Given the description of an element on the screen output the (x, y) to click on. 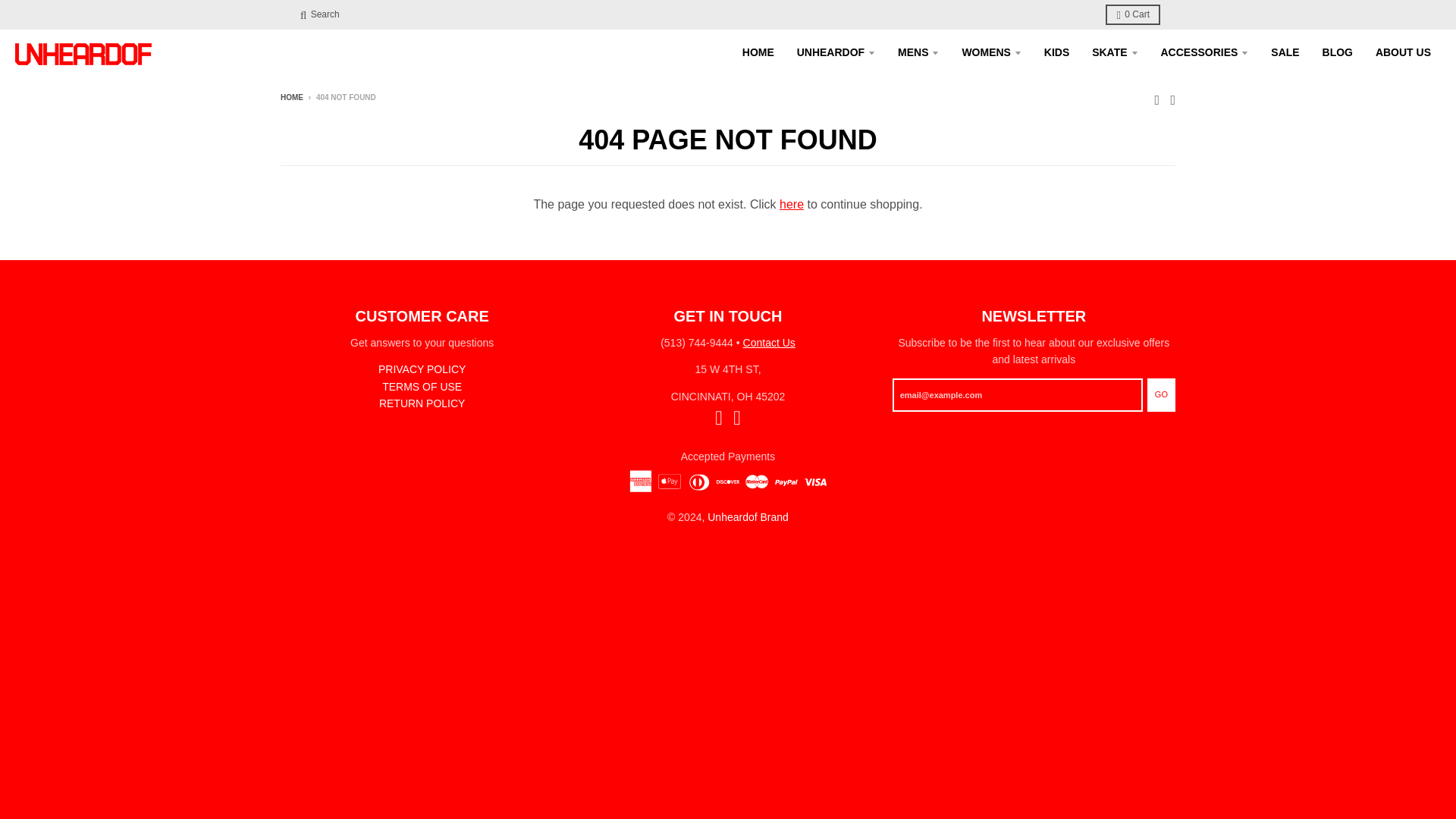
WOMENS (991, 52)
Back to the frontpage (291, 97)
HOME (758, 52)
UNHEARDOF (836, 52)
Search (319, 14)
MENS (918, 52)
0 Cart (1132, 14)
